Given the description of an element on the screen output the (x, y) to click on. 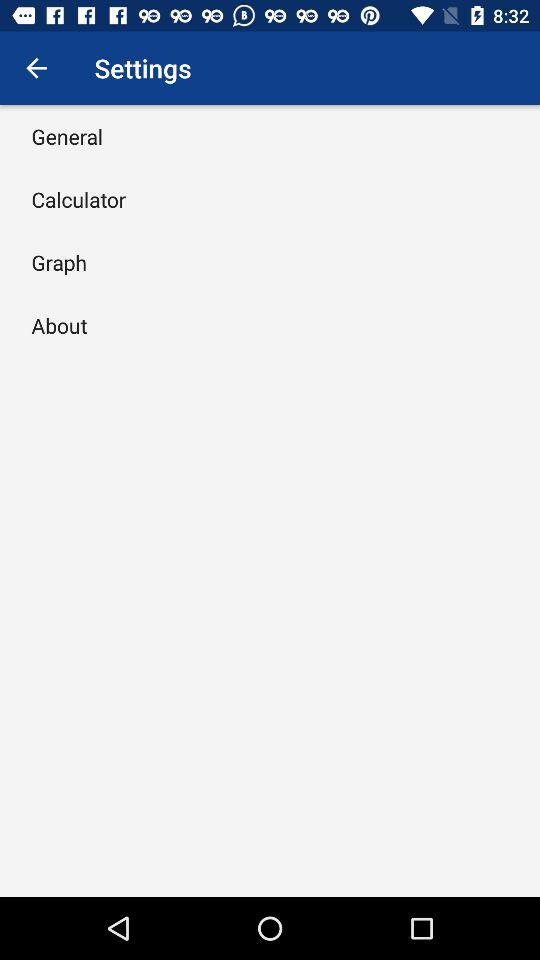
launch the general (67, 136)
